Given the description of an element on the screen output the (x, y) to click on. 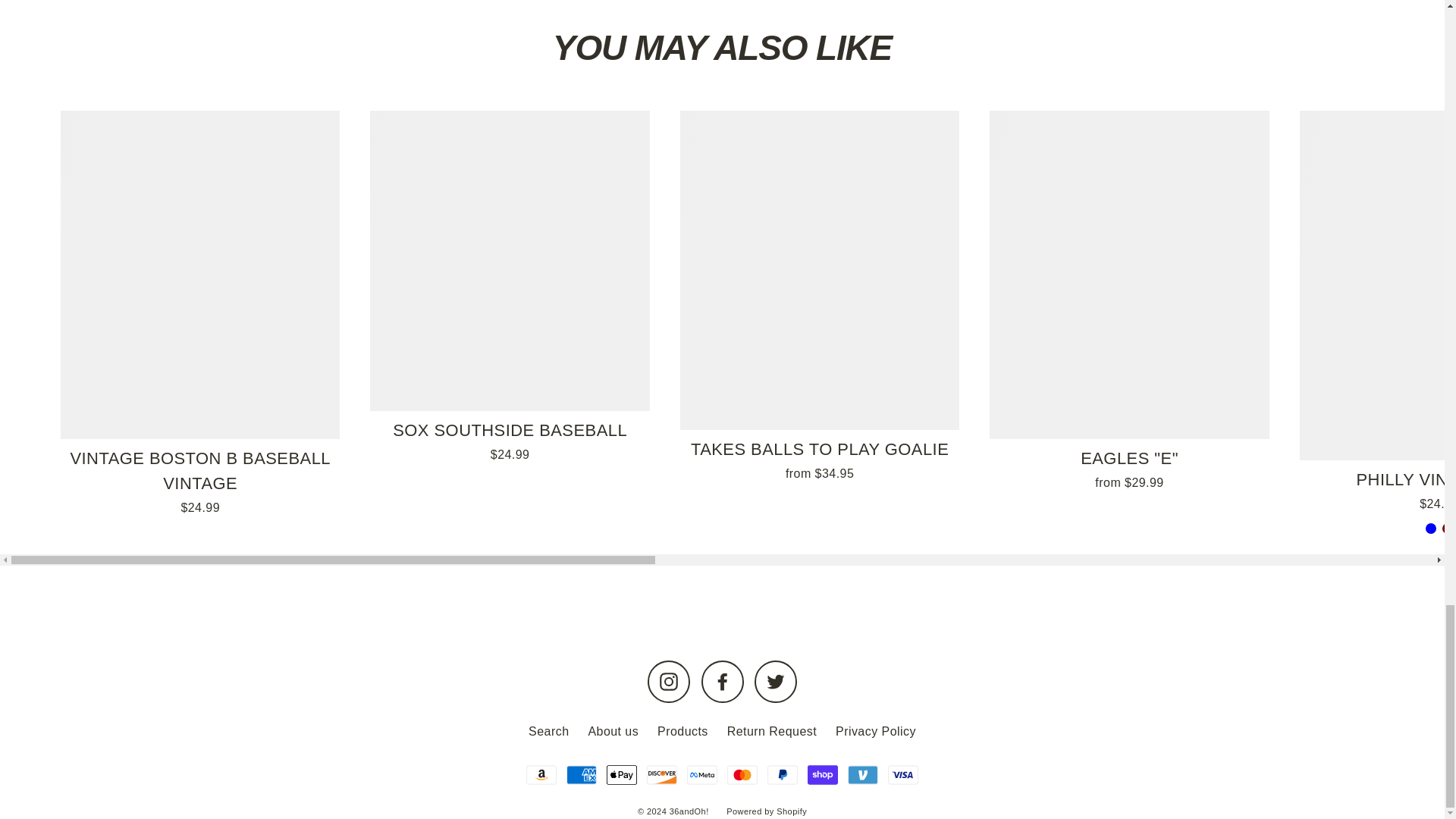
Amazon (540, 775)
Discover (661, 775)
American Express (581, 775)
PayPal (782, 775)
Mastercard (741, 775)
36andOh! on Instagram (668, 681)
Visa (903, 775)
36andOh! on Twitter (775, 681)
Venmo (862, 775)
Shop Pay (823, 775)
